Given the description of an element on the screen output the (x, y) to click on. 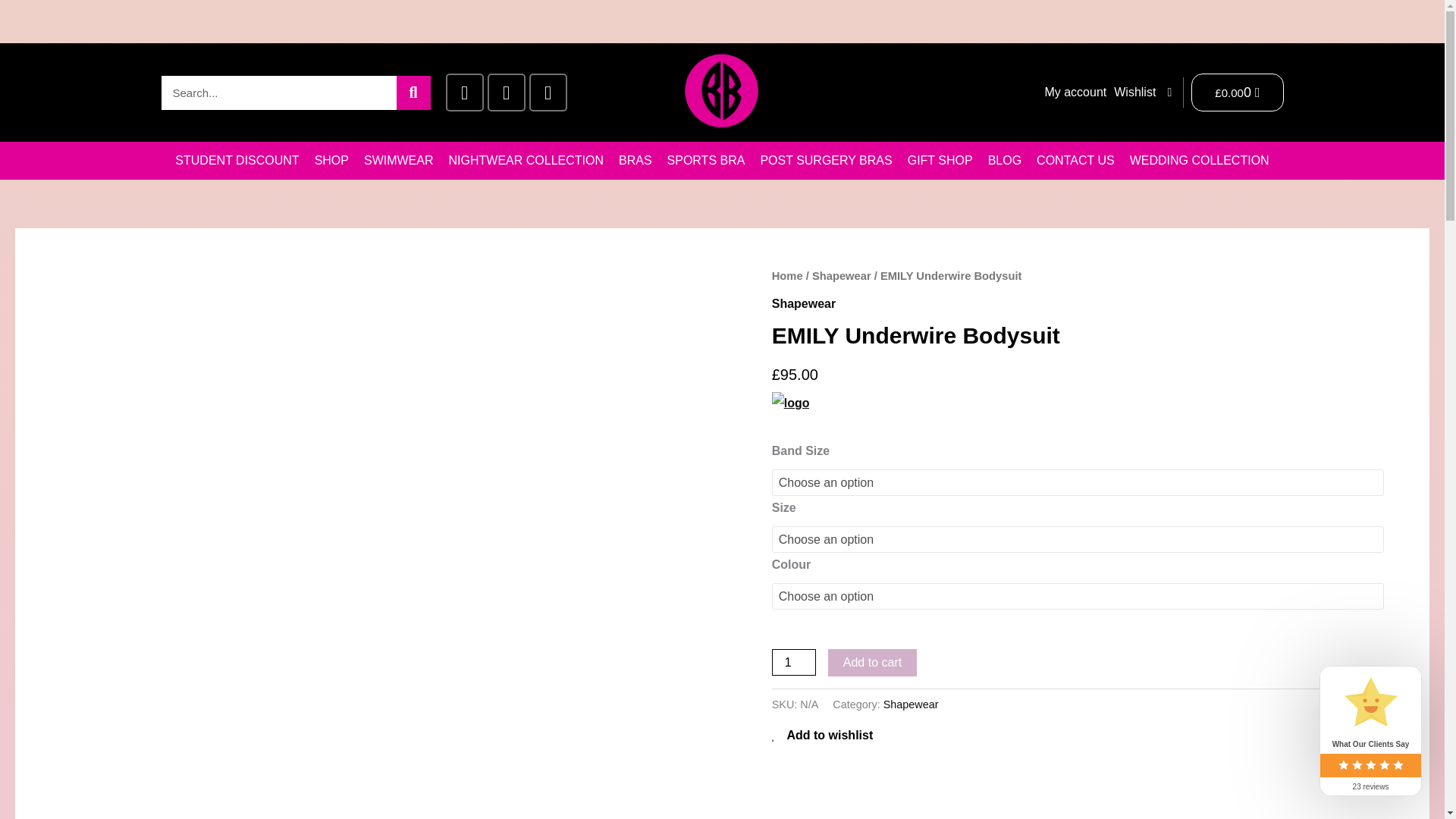
BRAS (635, 160)
BLOG (1004, 160)
SHOP (331, 160)
POST SURGERY BRAS (825, 160)
Shapewear (803, 303)
Shapewear (841, 275)
GIFT SHOP (939, 160)
Facebook-f (464, 92)
CONTACT US (1075, 160)
Envelope (548, 92)
SPORTS BRA (705, 160)
Search (412, 92)
WEDDING COLLECTION (1199, 160)
1 (793, 662)
My account (1074, 92)
